Given the description of an element on the screen output the (x, y) to click on. 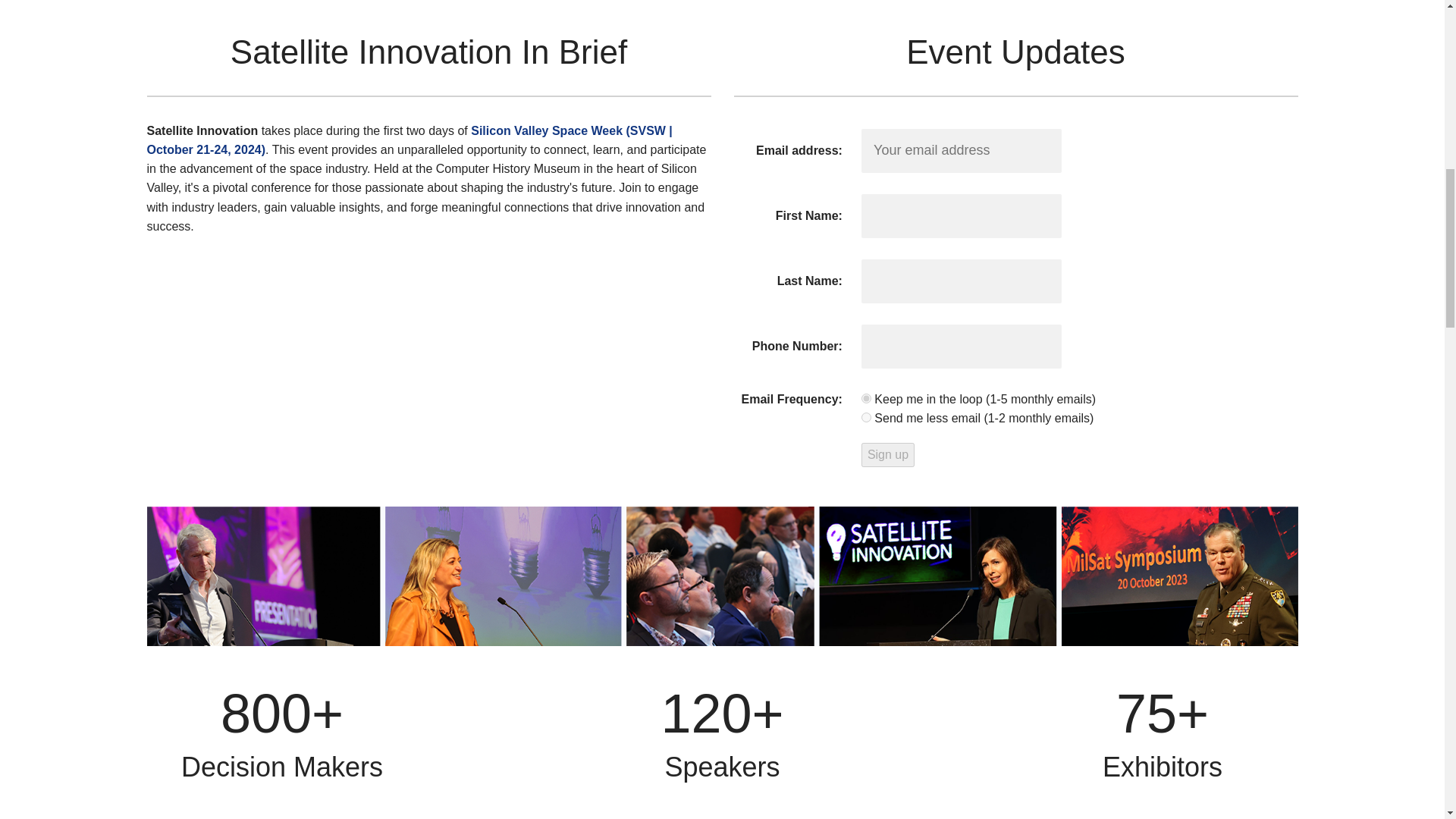
Sign up (887, 454)
c3bb6933b0 (865, 417)
Sign up (887, 454)
bd4fc175ba (865, 398)
